Given the description of an element on the screen output the (x, y) to click on. 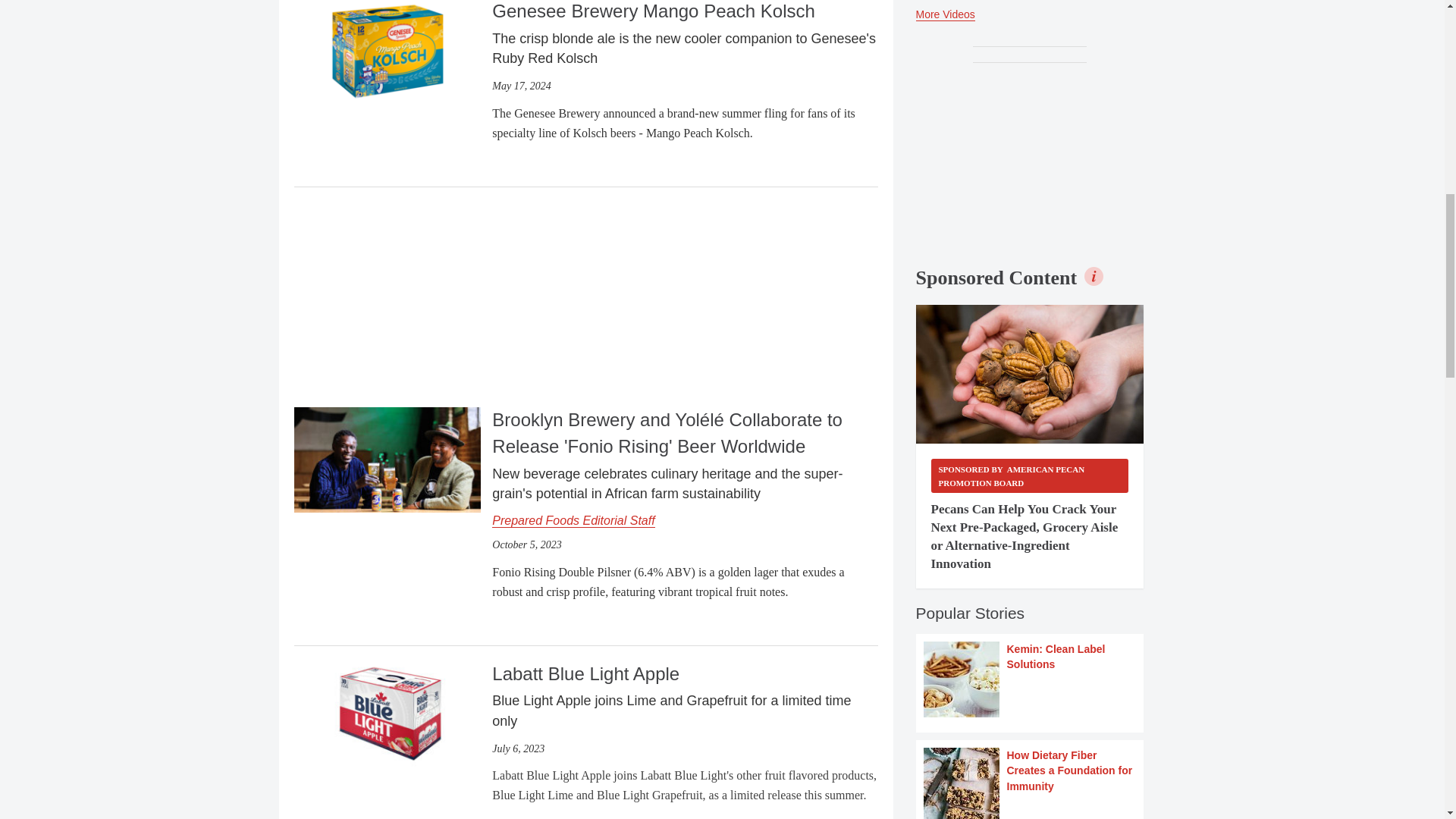
Genesee Mango Peach Kolsch package (387, 52)
Labatt Blue Light Apple    (387, 712)
Genesee Brewery Mango Peach Kolsch (387, 50)
